Given the description of an element on the screen output the (x, y) to click on. 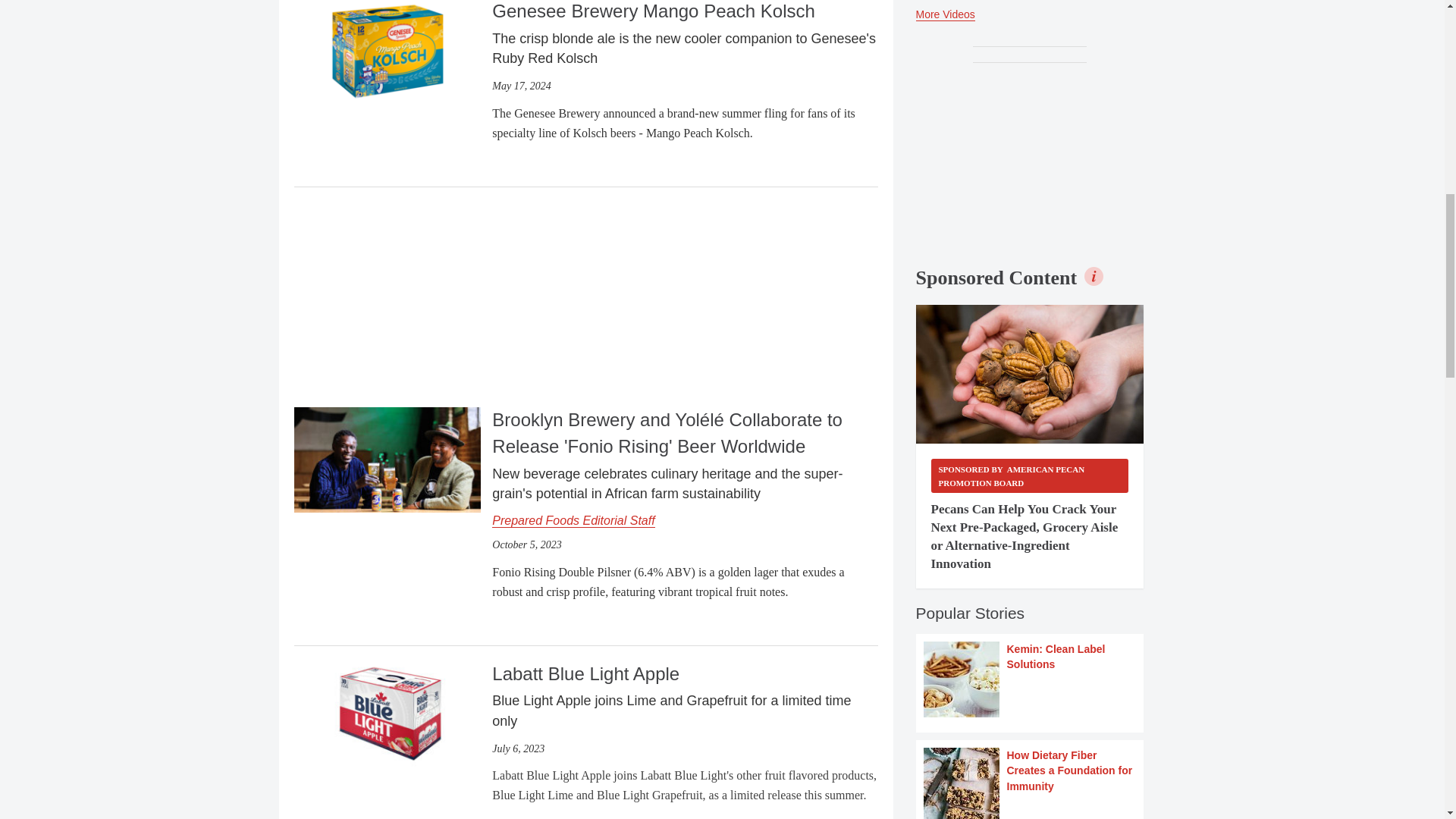
Genesee Mango Peach Kolsch package (387, 52)
Labatt Blue Light Apple    (387, 712)
Genesee Brewery Mango Peach Kolsch (387, 50)
